Given the description of an element on the screen output the (x, y) to click on. 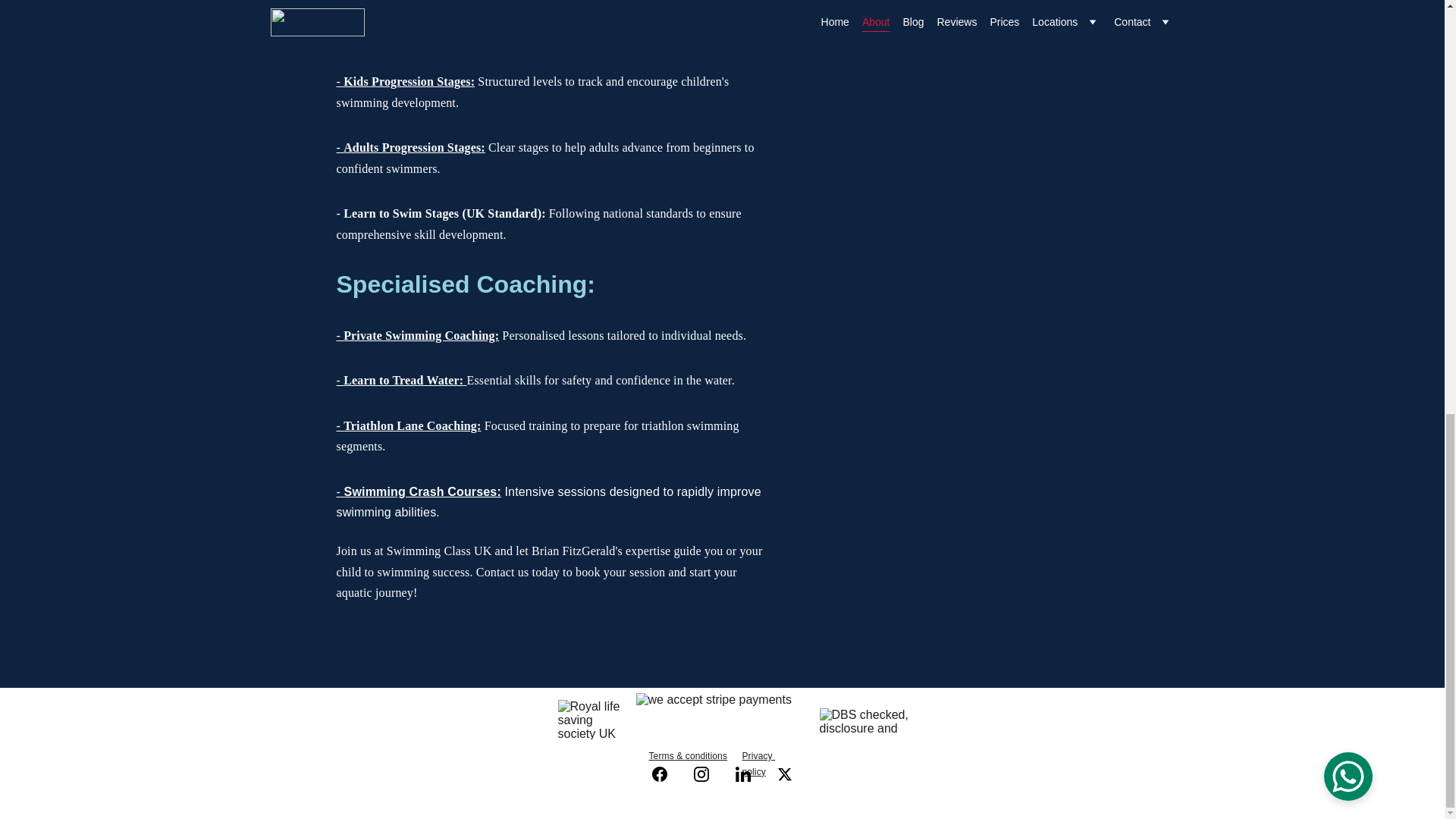
DBS checked, disclosure and barring service (864, 722)
Go to Linkedin-in page (750, 774)
Go to Twitter page (784, 774)
Go to Facebook page (667, 774)
Go to Instagram page (708, 774)
we accept stripe payments (721, 718)
Royal life saving society UK (590, 719)
